Given the description of an element on the screen output the (x, y) to click on. 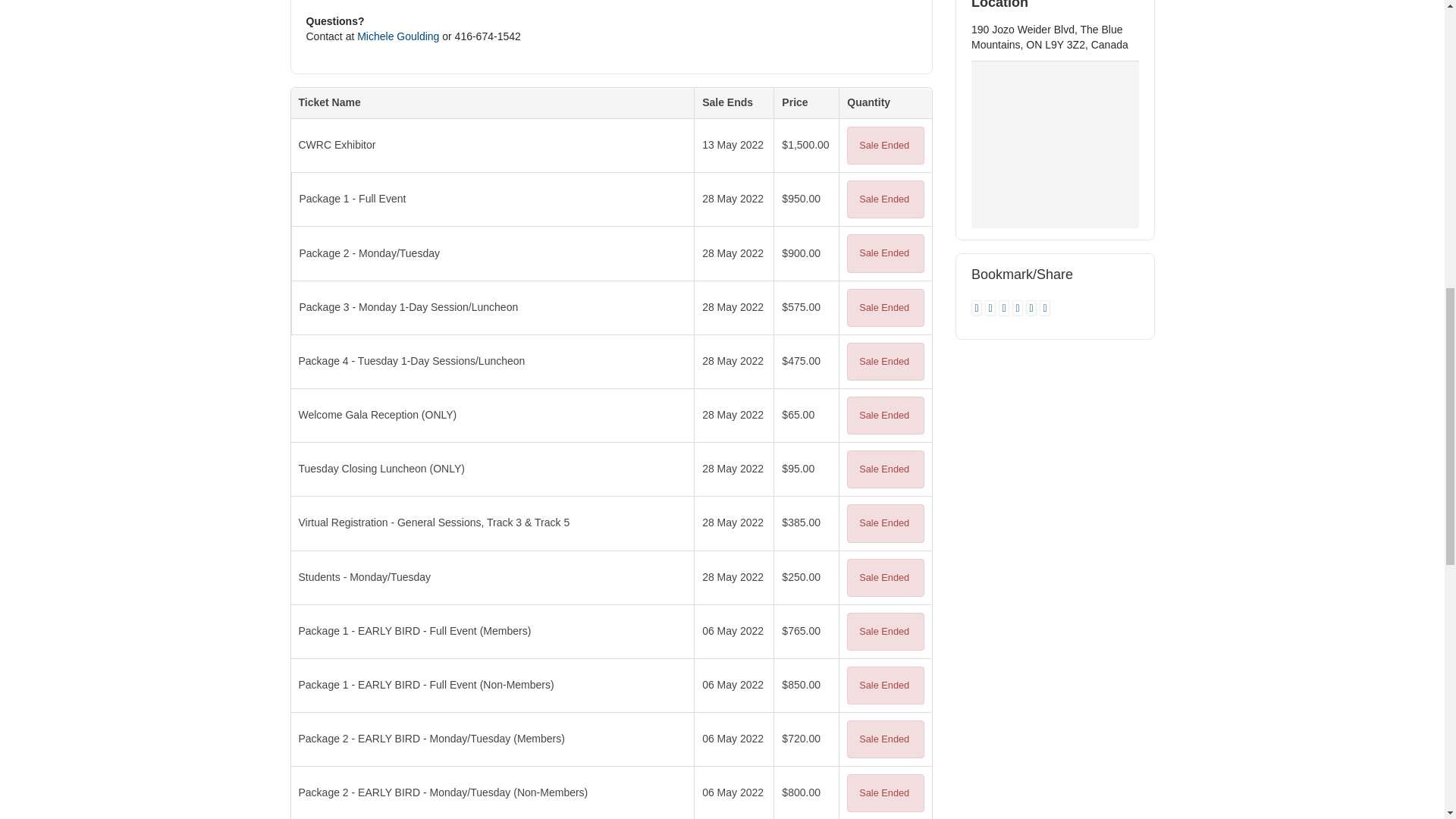
Bookmark this post on Google (1004, 307)
Share on Facebook (991, 307)
Share this on X (978, 307)
Share this on LinkedIn (1018, 307)
Submit this post on reddit.com (1032, 307)
